Given the description of an element on the screen output the (x, y) to click on. 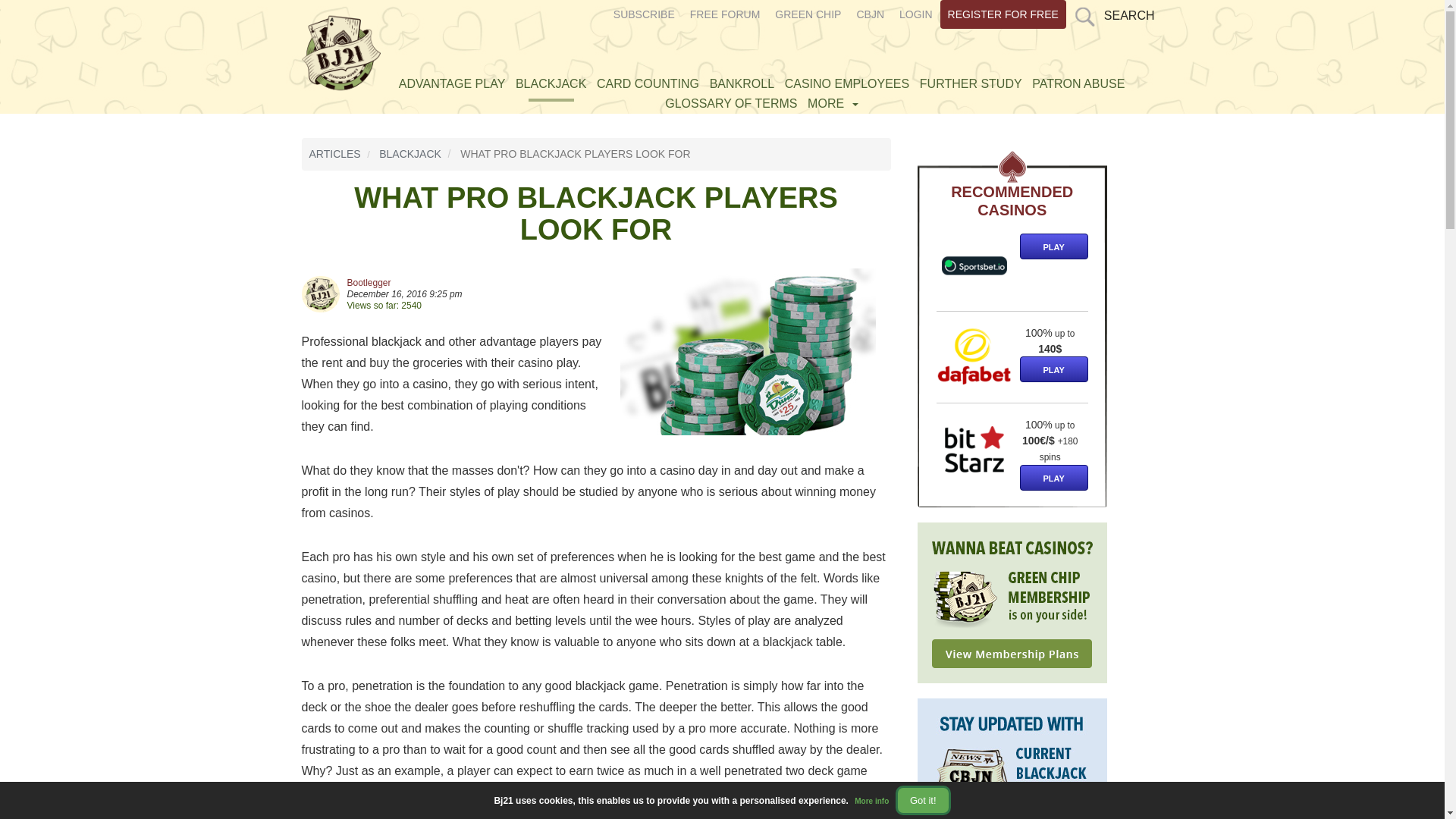
CARD COUNTING (647, 83)
GREEN CHIP (807, 14)
CBJN (869, 14)
LOGIN (915, 14)
BANKROLL (741, 83)
ADVANTAGE PLAY (451, 83)
REGISTER FOR FREE (1002, 14)
SUBSCRIBE (643, 14)
CASINO EMPLOYEES (847, 83)
BLACKJACK (550, 83)
FREE FORUM (725, 14)
